Given the description of an element on the screen output the (x, y) to click on. 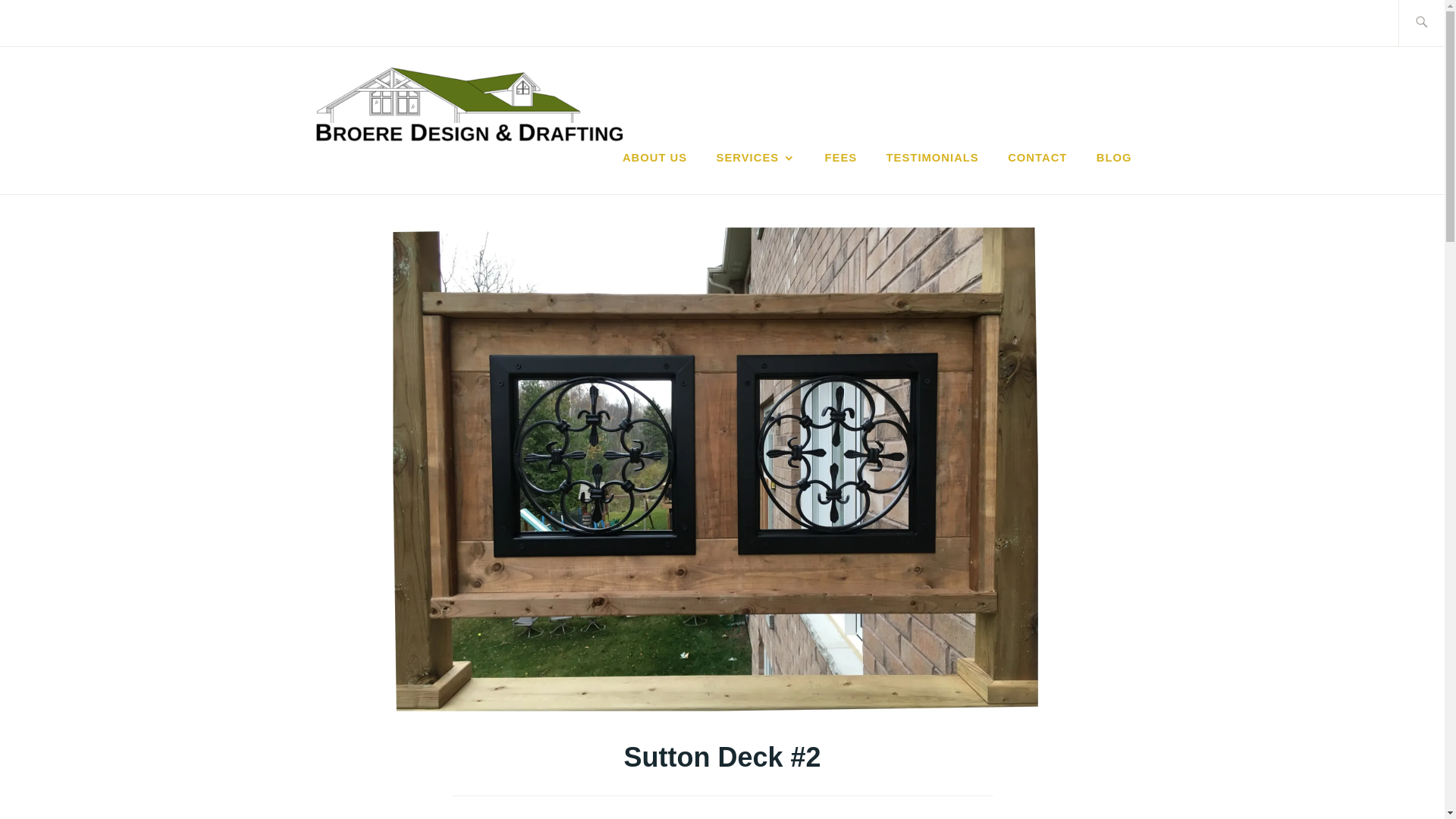
Search (47, 22)
ABOUT US (655, 158)
SERVICES (756, 158)
